Given the description of an element on the screen output the (x, y) to click on. 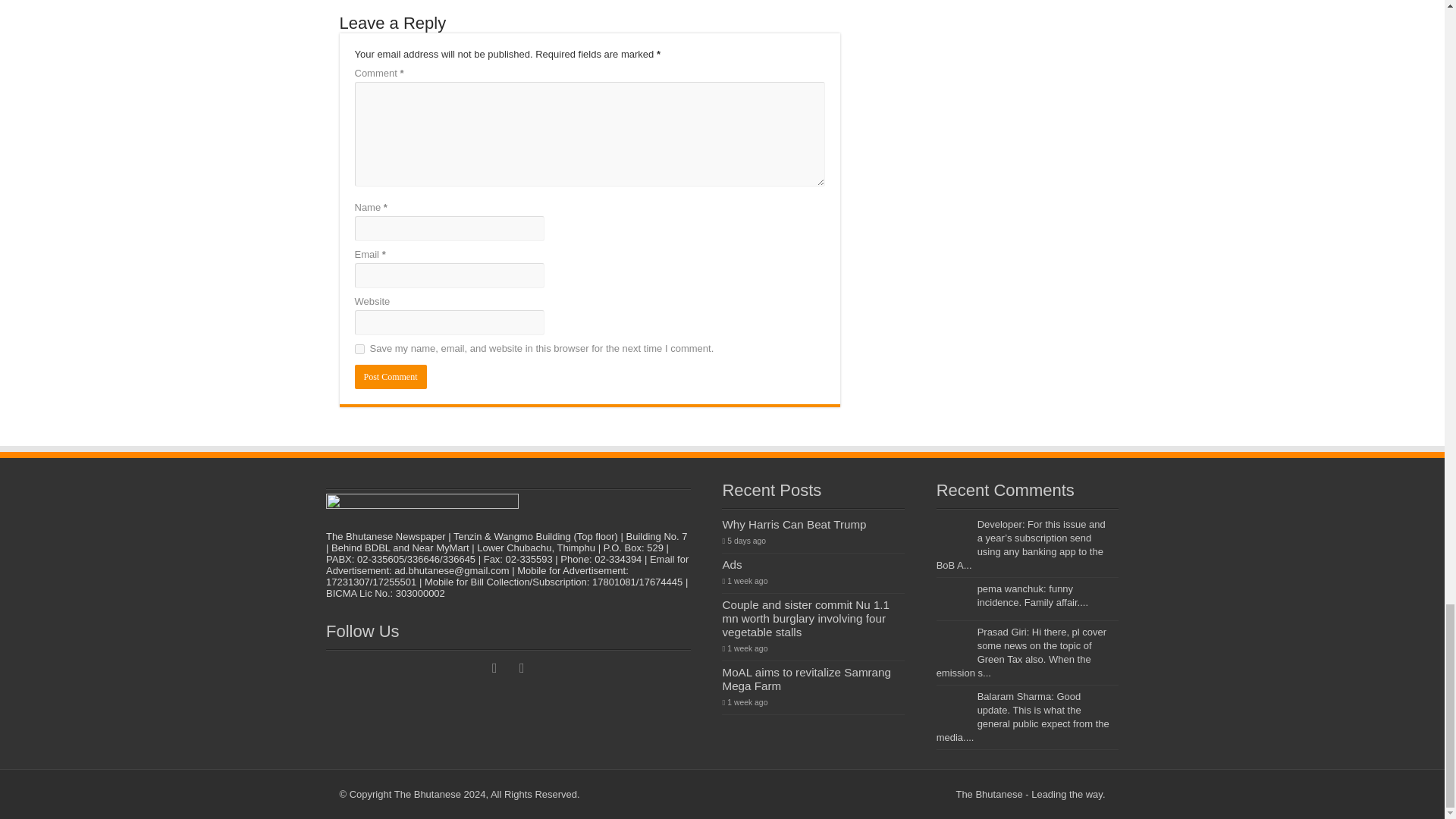
yes (360, 348)
Post Comment (390, 376)
